Given the description of an element on the screen output the (x, y) to click on. 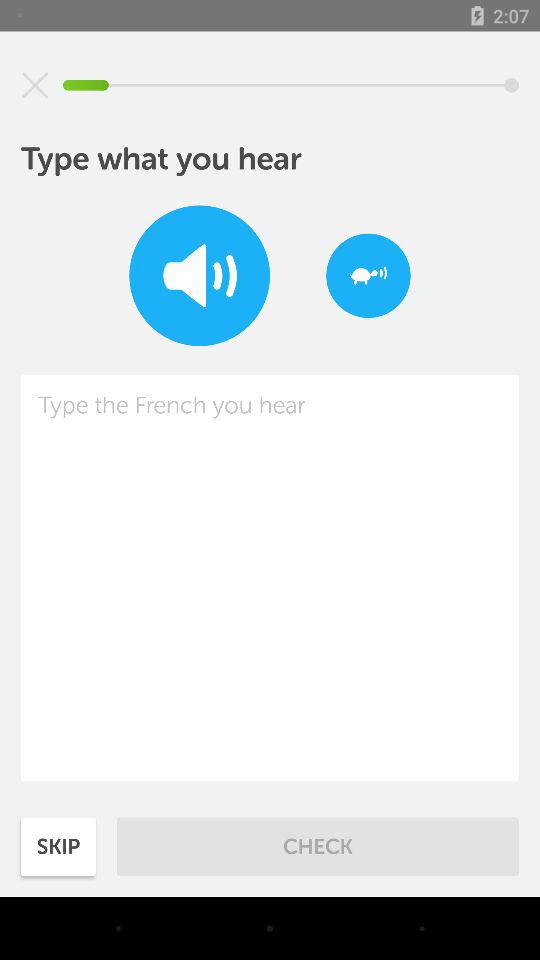
turn off the skip (58, 846)
